Given the description of an element on the screen output the (x, y) to click on. 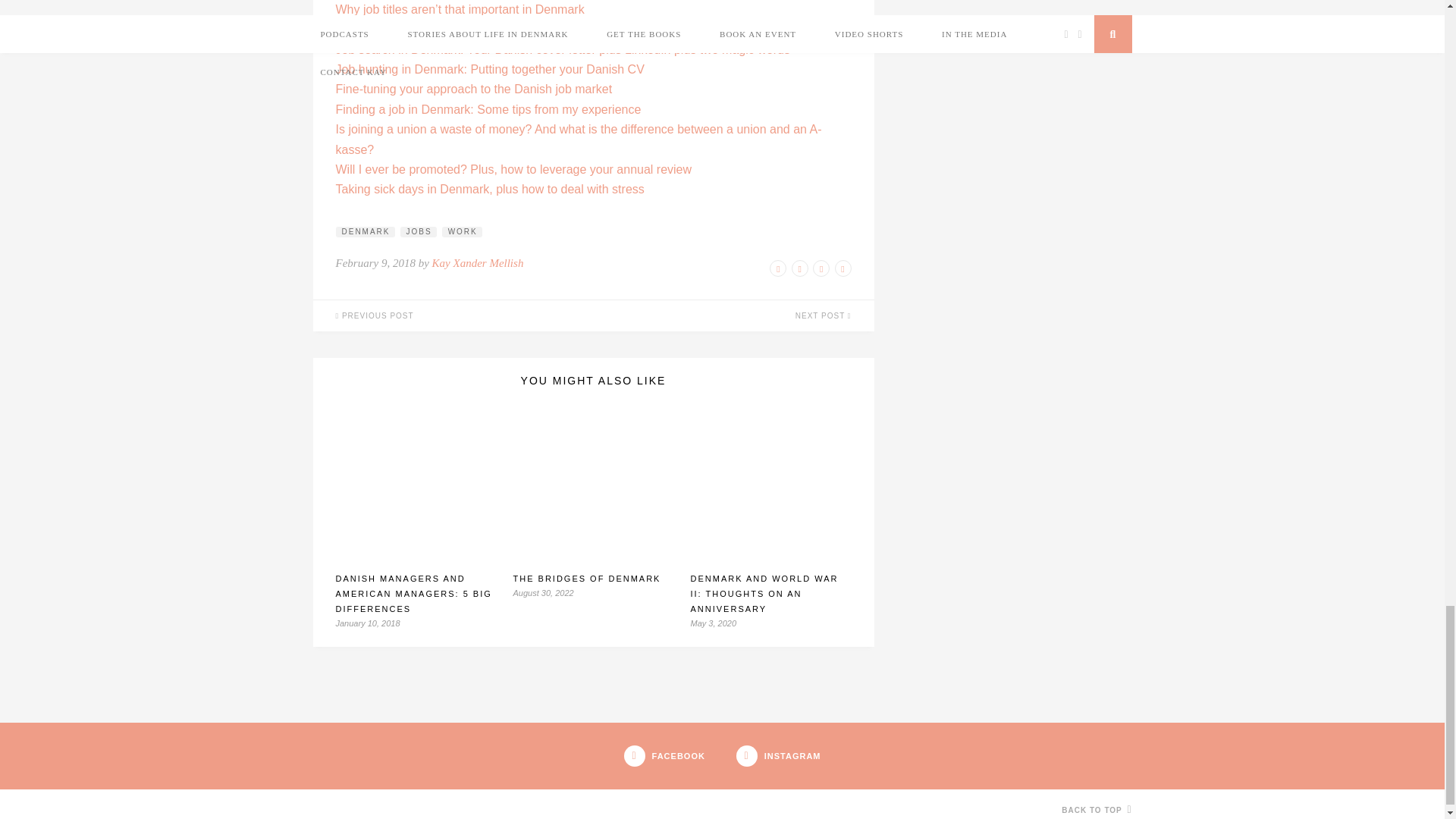
Posts by Kay Xander Mellish (478, 263)
